Given the description of an element on the screen output the (x, y) to click on. 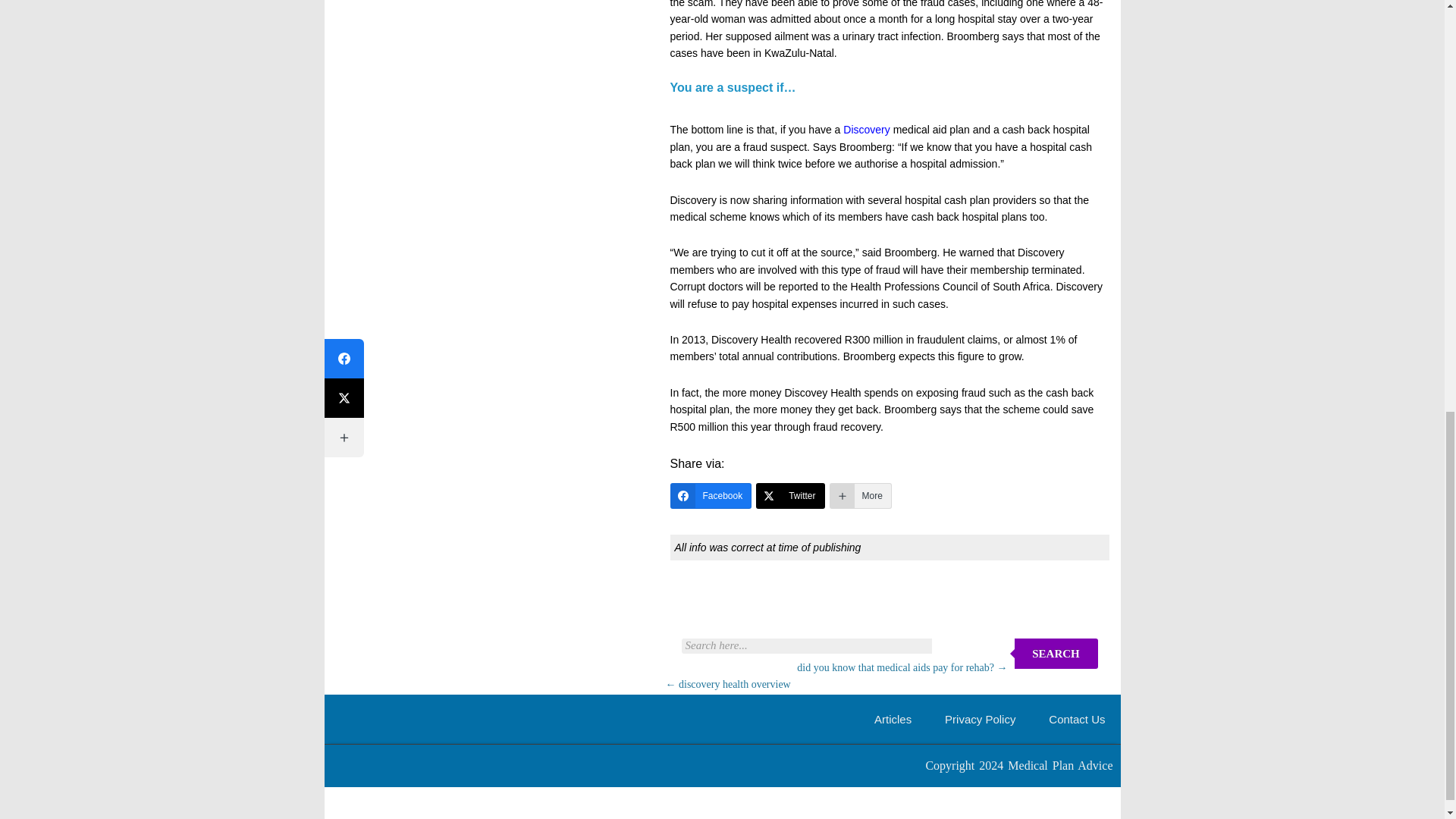
Facebook (710, 495)
Discovery (866, 129)
More (860, 495)
Contact Us (1076, 718)
SEARCH (1055, 653)
Privacy Policy (979, 718)
Advertisement (848, 601)
Articles (893, 718)
Twitter (789, 495)
